Given the description of an element on the screen output the (x, y) to click on. 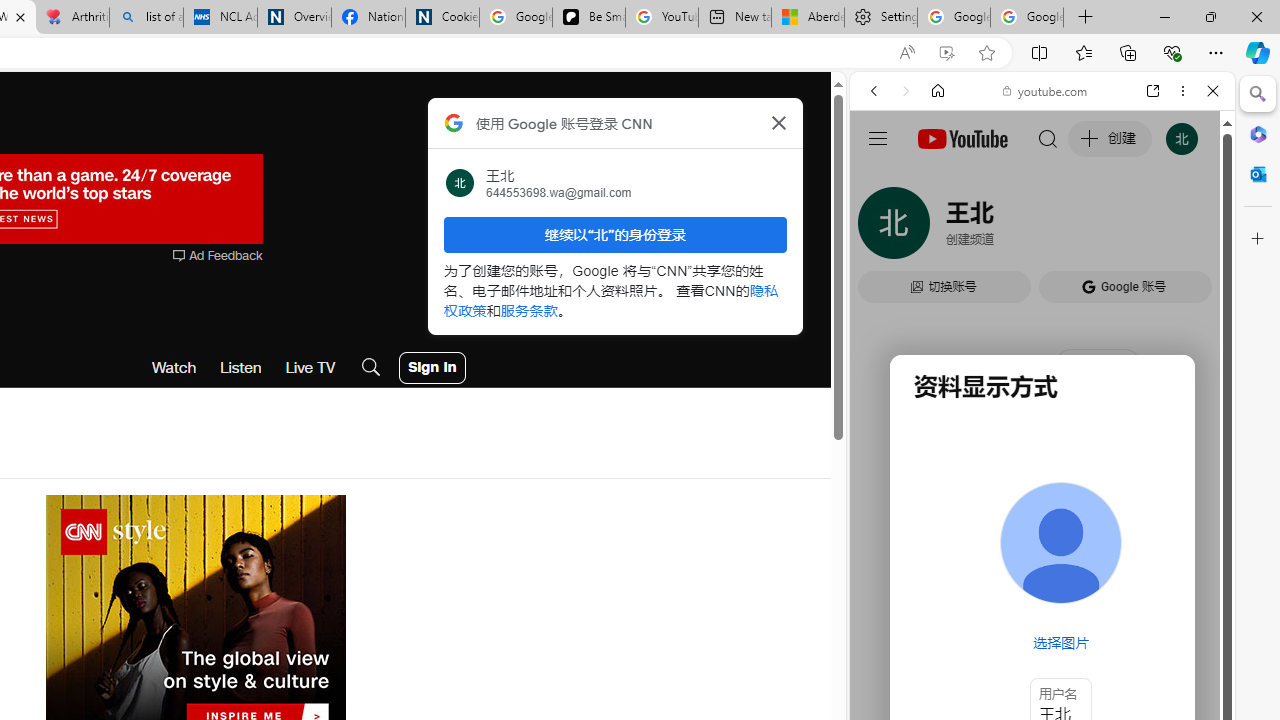
Search Filter, Search Tools (1093, 228)
#you (1042, 445)
Google (947, 584)
Search Icon (371, 367)
Class: Bz112c Bz112c-r9oPif (778, 122)
Music (1042, 543)
Web scope (882, 180)
Be Smart | creating Science videos | Patreon (588, 17)
Arthritis: Ask Health Professionals (71, 17)
